Given the description of an element on the screen output the (x, y) to click on. 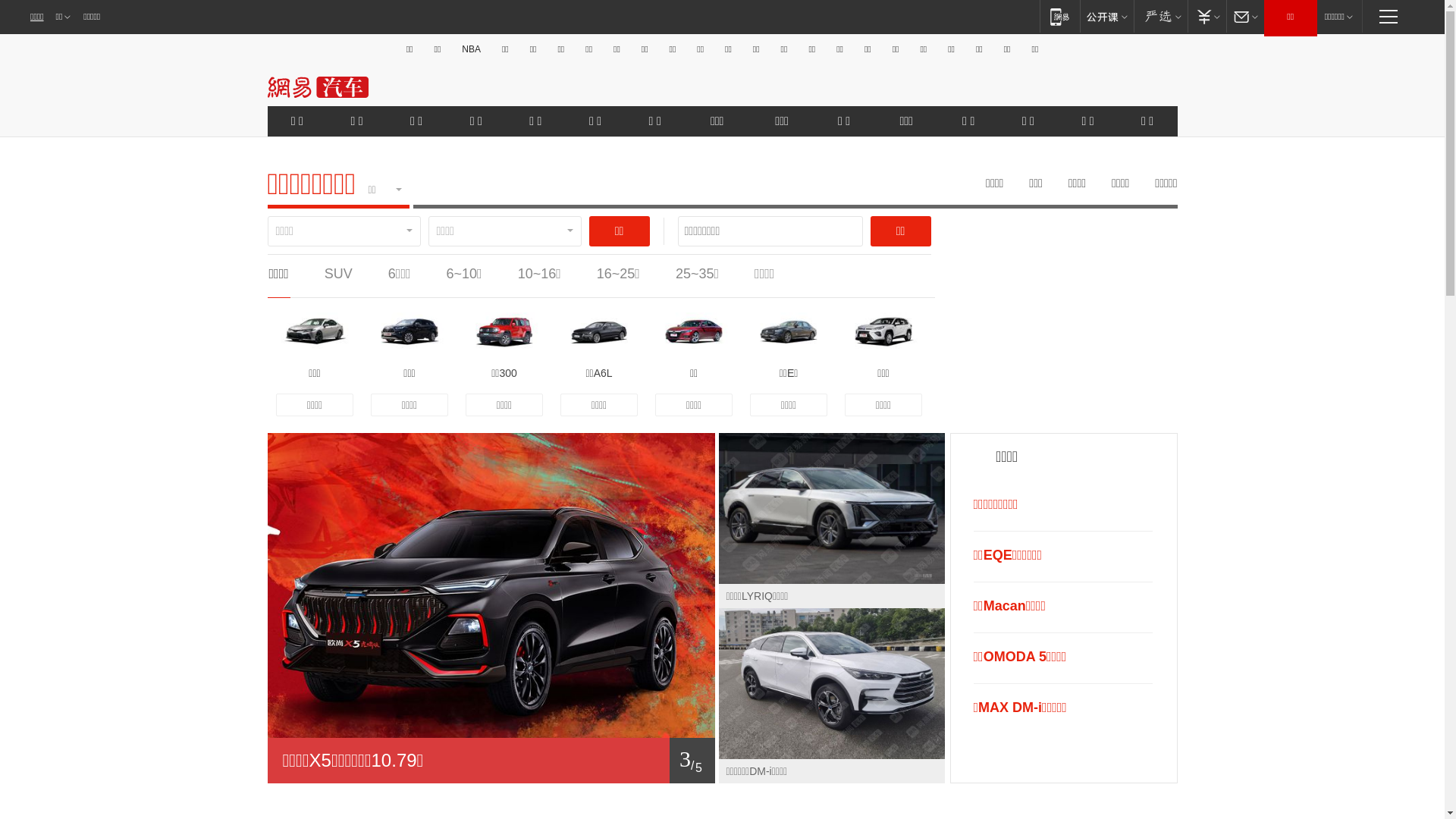
SUV Element type: text (338, 273)
NBA Element type: text (471, 48)
1/ 5 Element type: text (490, 760)
